Given the description of an element on the screen output the (x, y) to click on. 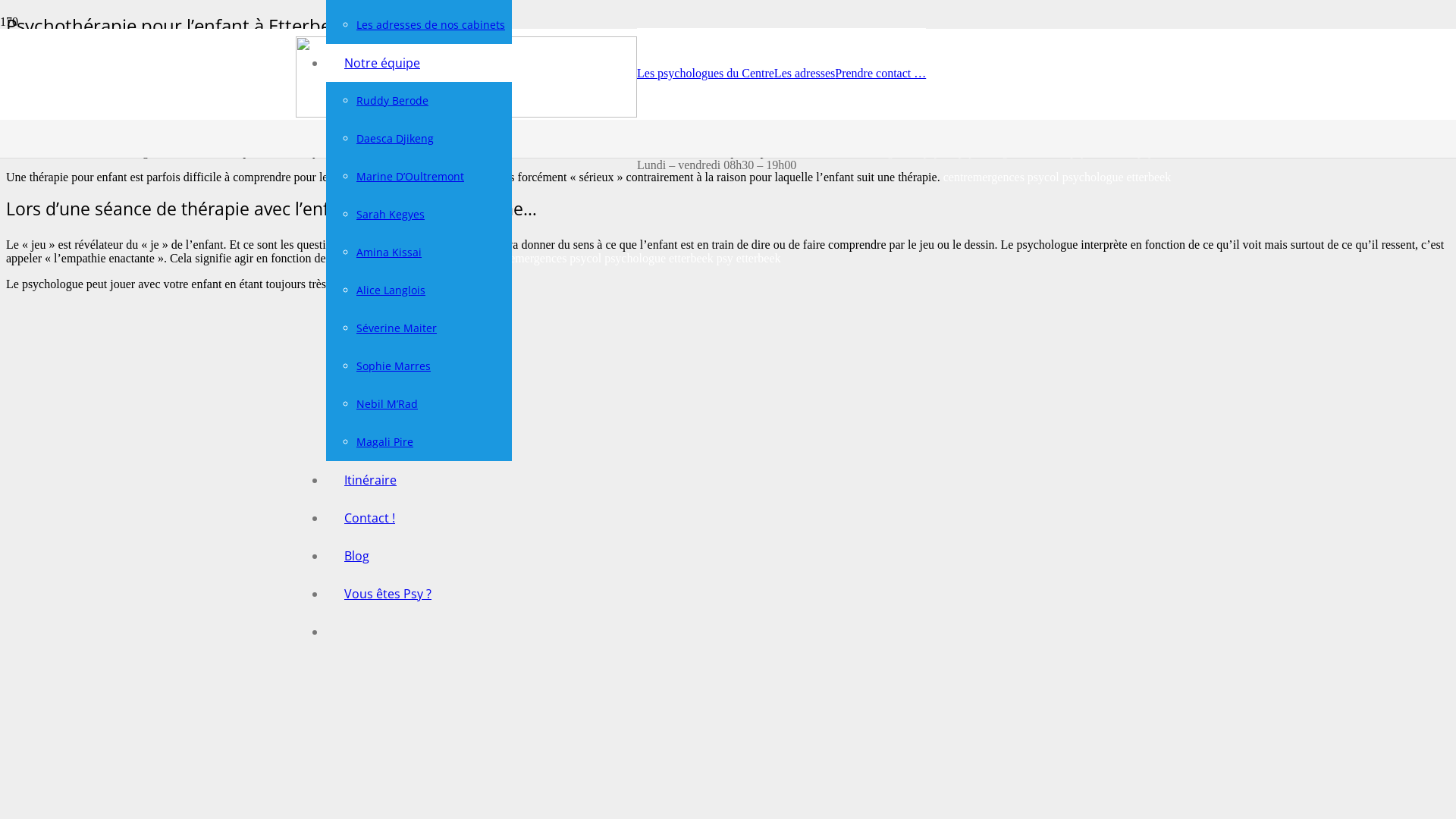
Magali Pire Element type: text (384, 441)
Sophie Marres Element type: text (393, 365)
Les adresses de nos cabinets Element type: text (430, 24)
Blog Element type: text (356, 555)
Contact ! Element type: text (369, 517)
Alice Langlois Element type: text (390, 289)
Daesca Djikeng Element type: text (394, 138)
Les adresses Element type: text (804, 72)
Sarah Kegyes Element type: text (390, 214)
Amina Kissai Element type: text (388, 251)
Accueil Element type: text (474, 41)
Ruddy Berode Element type: text (392, 100)
Les psychologues du Centre Element type: text (705, 72)
